Given the description of an element on the screen output the (x, y) to click on. 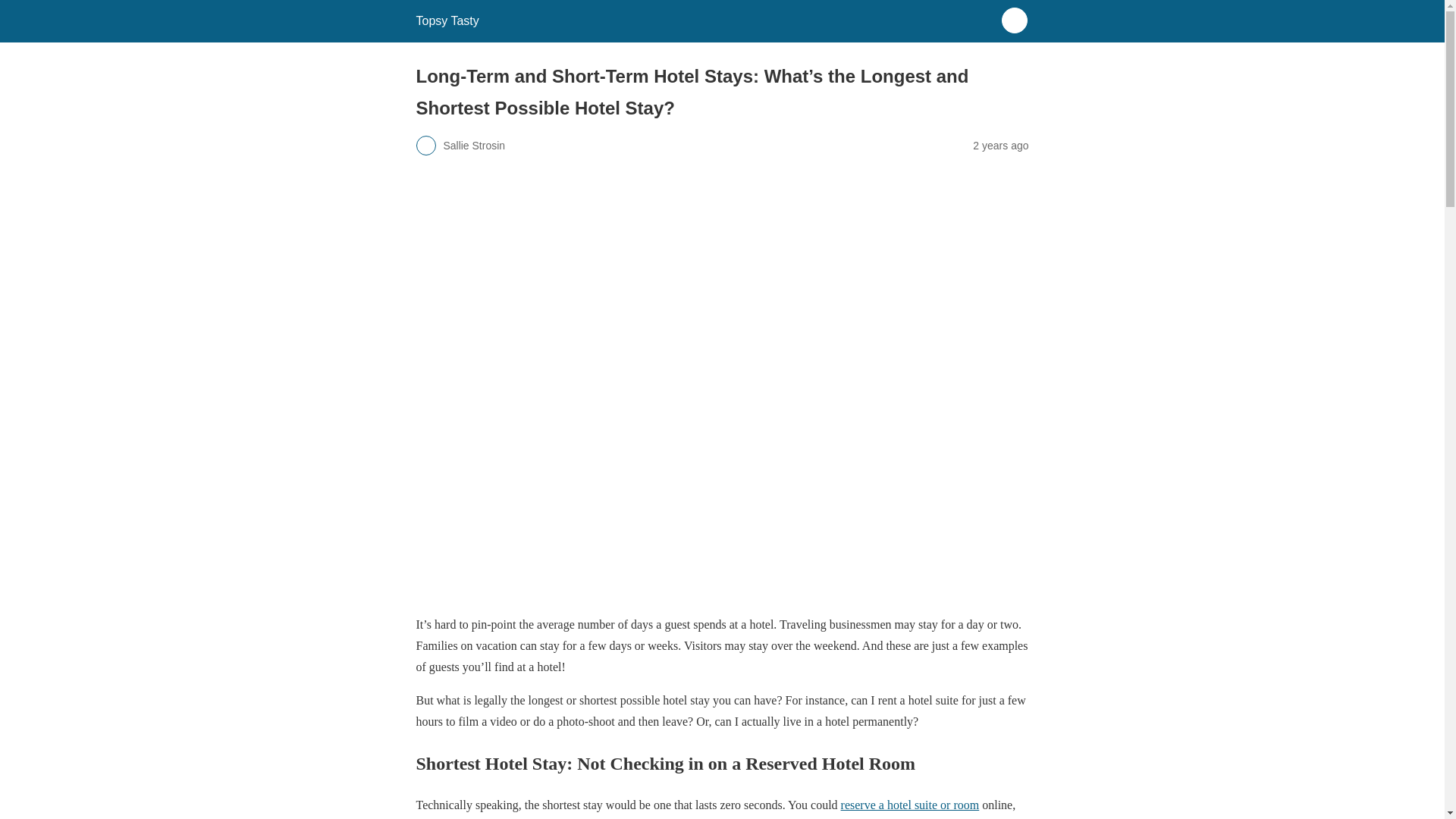
Topsy Tasty (446, 20)
reserve a hotel suite or room (910, 804)
